Given the description of an element on the screen output the (x, y) to click on. 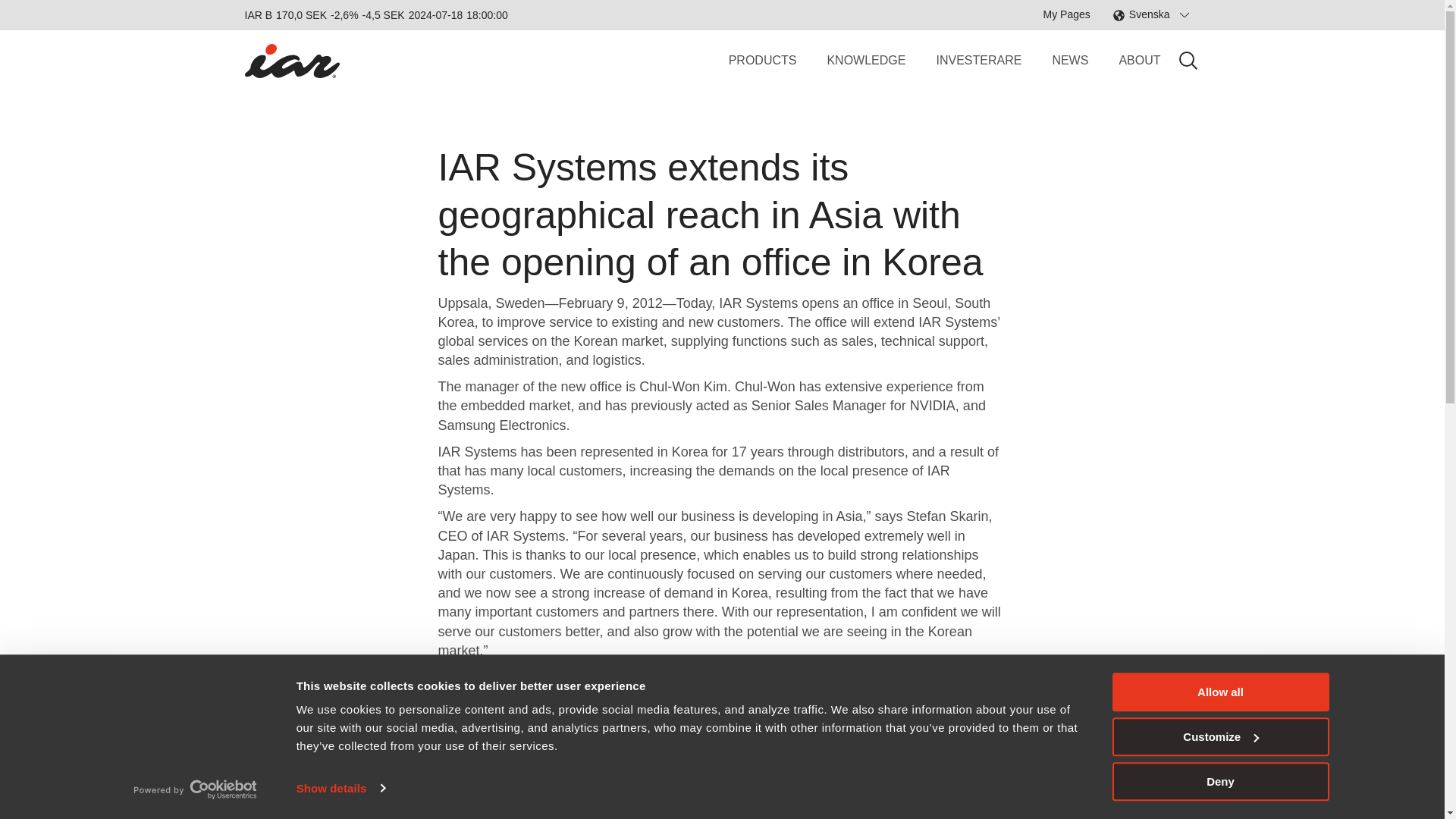
Show details (340, 787)
